Given the description of an element on the screen output the (x, y) to click on. 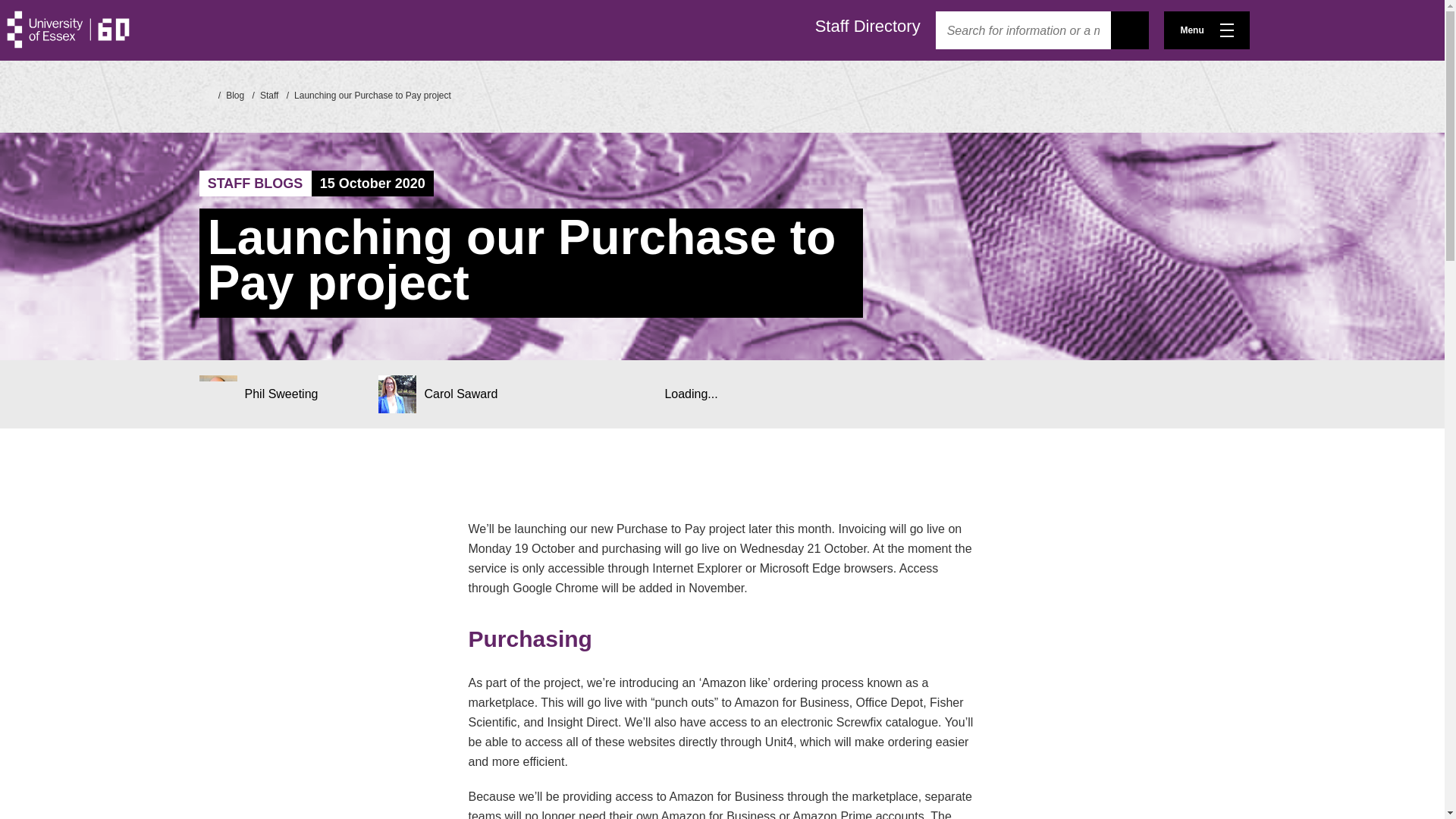
Search for information or a member of staff... (1023, 30)
University of Essex homepage (203, 94)
Staff Directory (867, 26)
Menu (1206, 30)
